Given the description of an element on the screen output the (x, y) to click on. 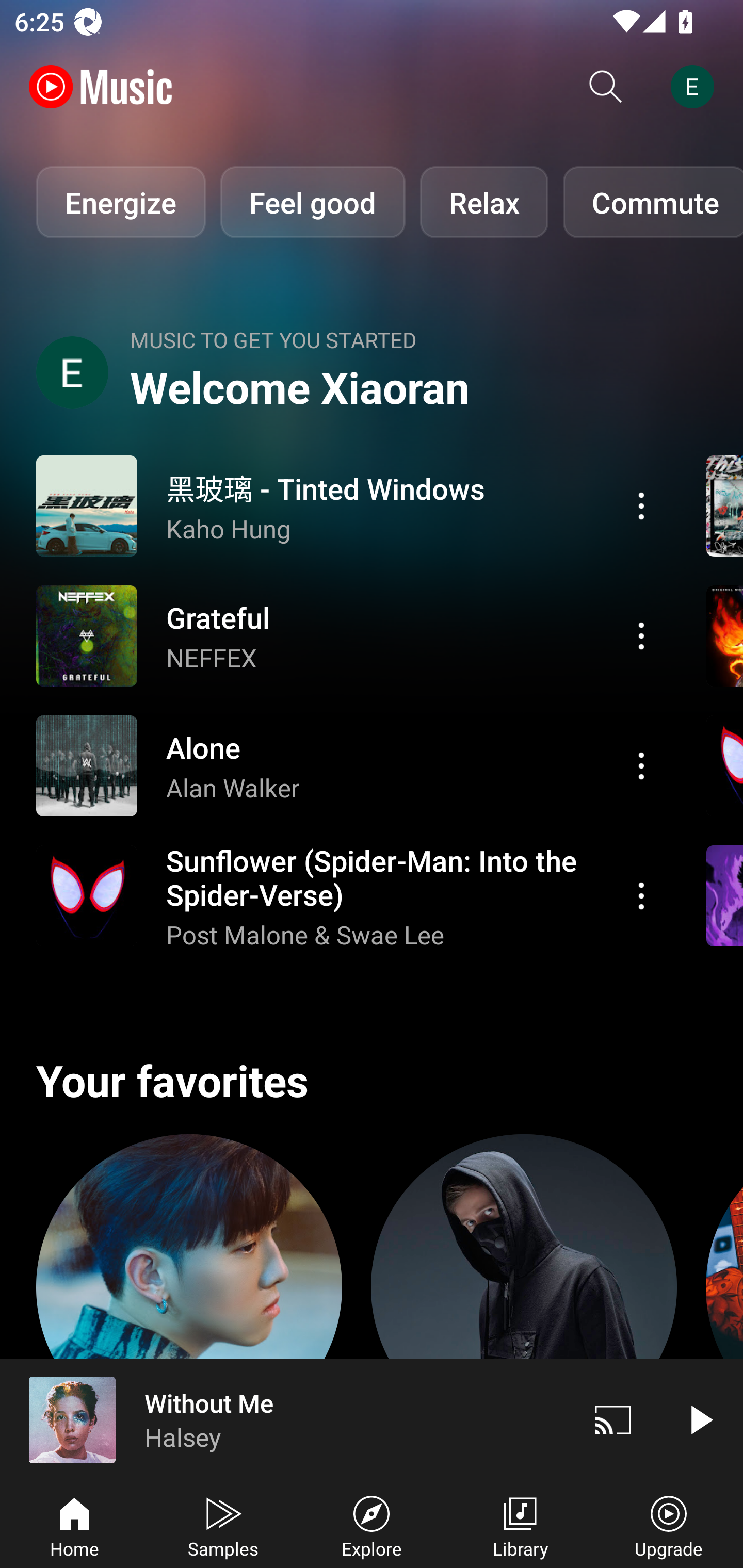
Search (605, 86)
Account (696, 86)
Action menu (349, 505)
Action menu (641, 505)
Action menu (349, 635)
Action menu (641, 635)
Action menu (349, 765)
Action menu (641, 765)
Action menu (349, 896)
Action menu (641, 896)
Without Me Halsey (284, 1419)
Cast. Disconnected (612, 1419)
Play video (699, 1419)
Samples (222, 1524)
Explore (371, 1524)
Library (519, 1524)
Upgrade (668, 1524)
